Given the description of an element on the screen output the (x, y) to click on. 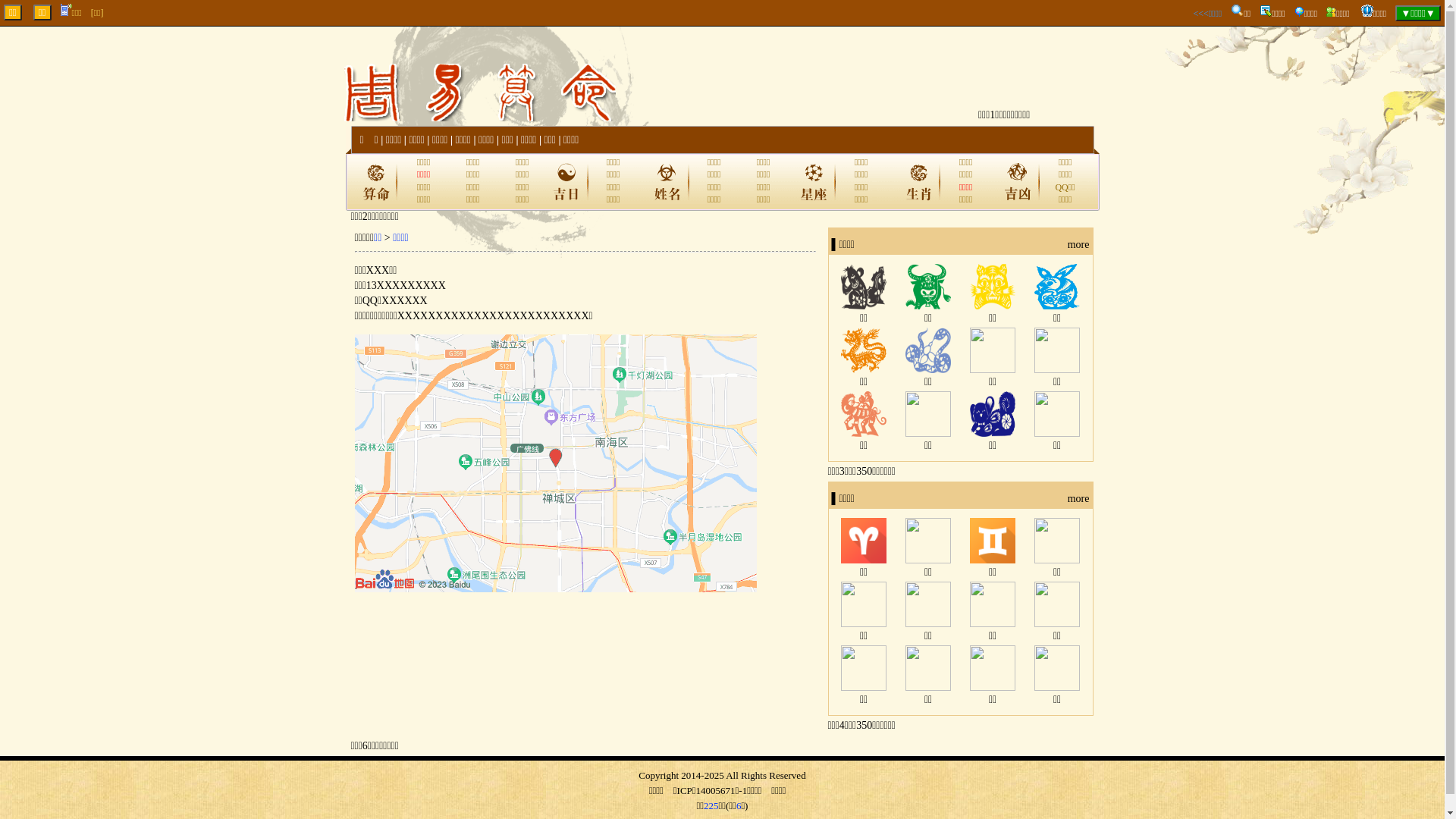
6 Element type: text (738, 805)
225 Element type: text (710, 805)
more Element type: text (1078, 244)
more Element type: text (1078, 498)
